Given the description of an element on the screen output the (x, y) to click on. 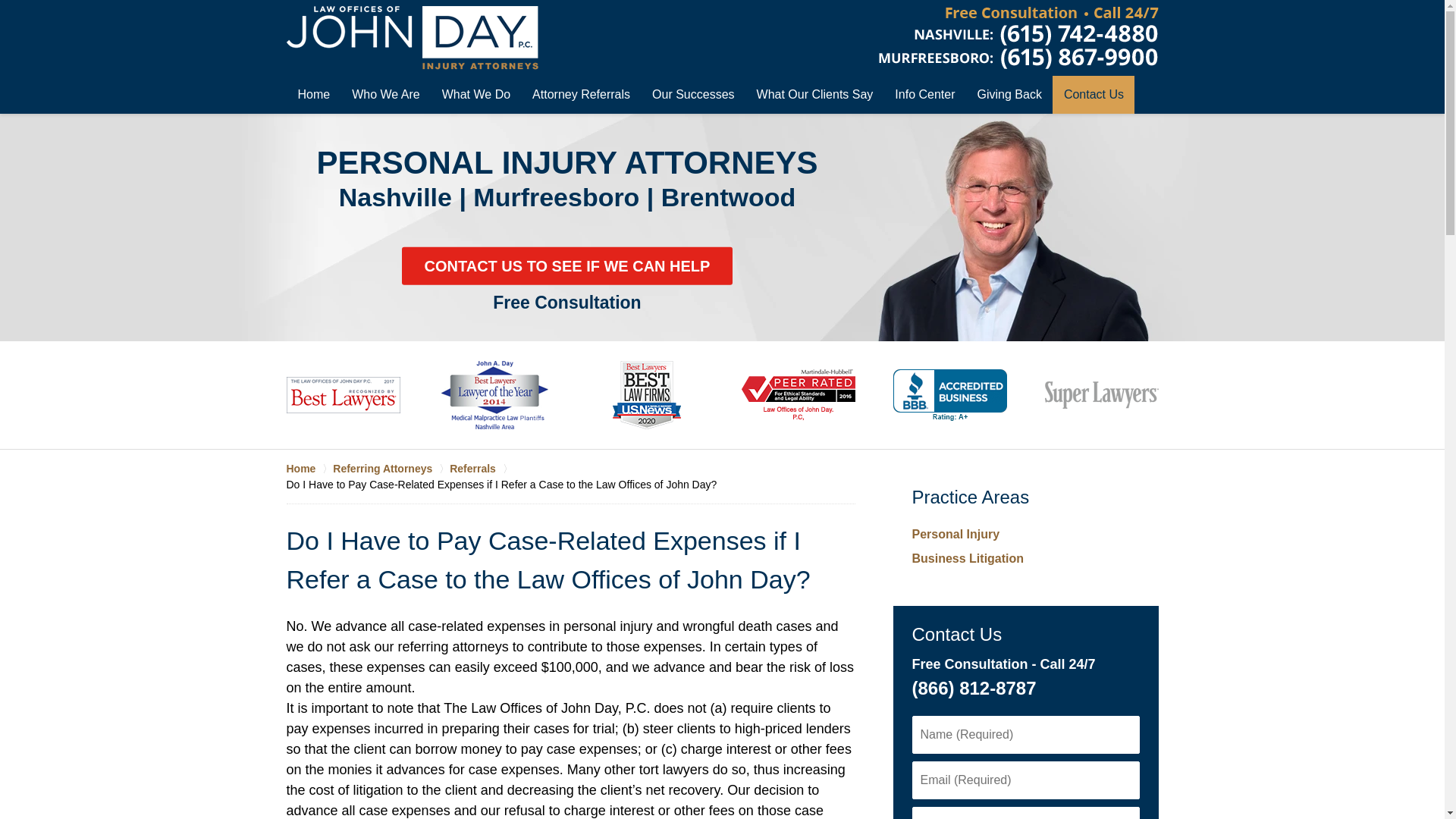
Attorney Referrals (580, 94)
Home (309, 468)
Who We Are (385, 94)
What Our Clients Say (814, 94)
CONTACT US TO SEE IF WE CAN HELP (567, 266)
What We Do (475, 94)
Giving Back (1009, 94)
Our Successes (692, 94)
Info Center (924, 94)
Home (313, 94)
Back to Home (412, 37)
Contact Us (1093, 94)
